Given the description of an element on the screen output the (x, y) to click on. 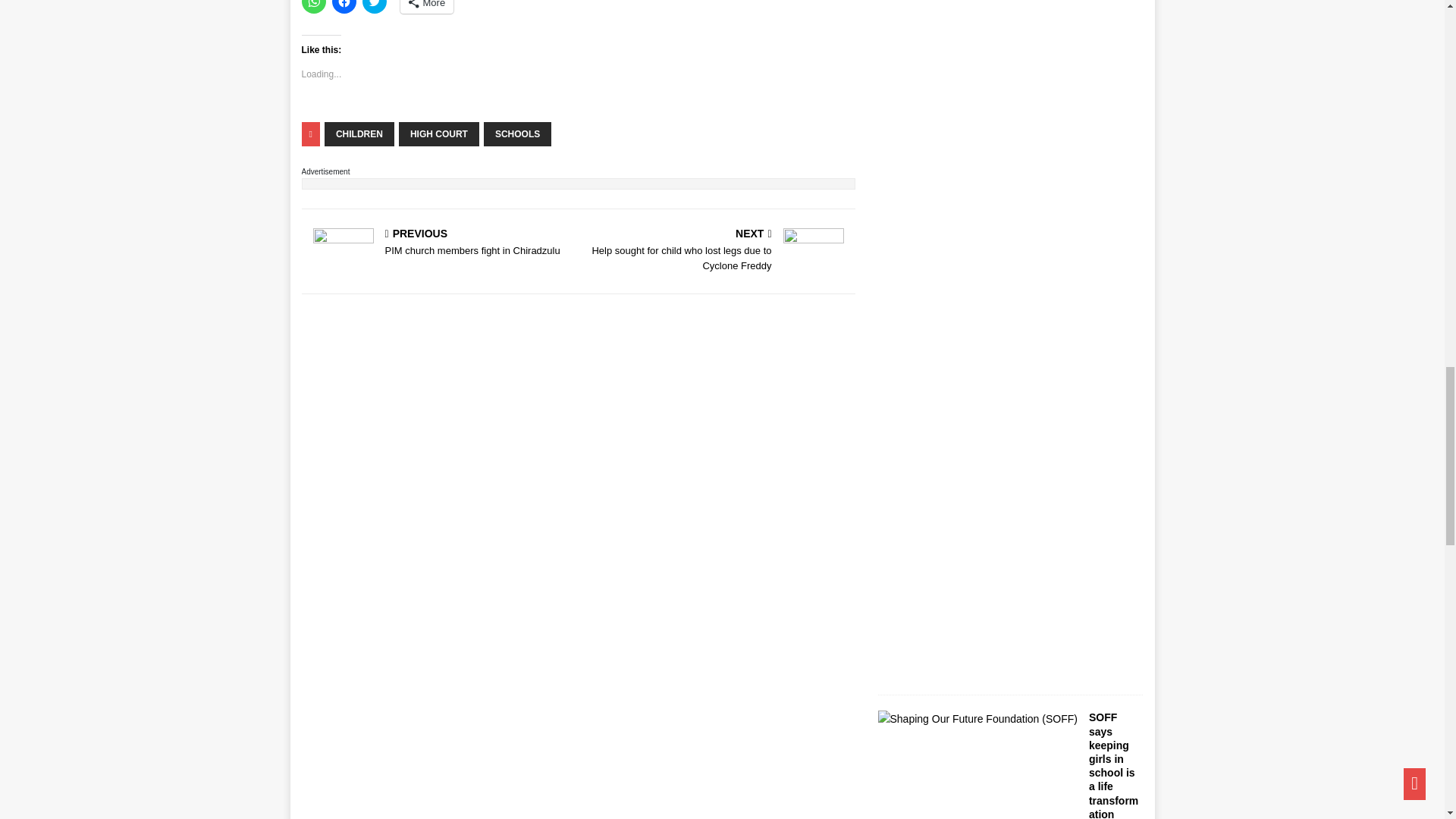
Click to share on Facebook (343, 6)
Click to share on WhatsApp (313, 6)
Click to share on Twitter (374, 6)
